Given the description of an element on the screen output the (x, y) to click on. 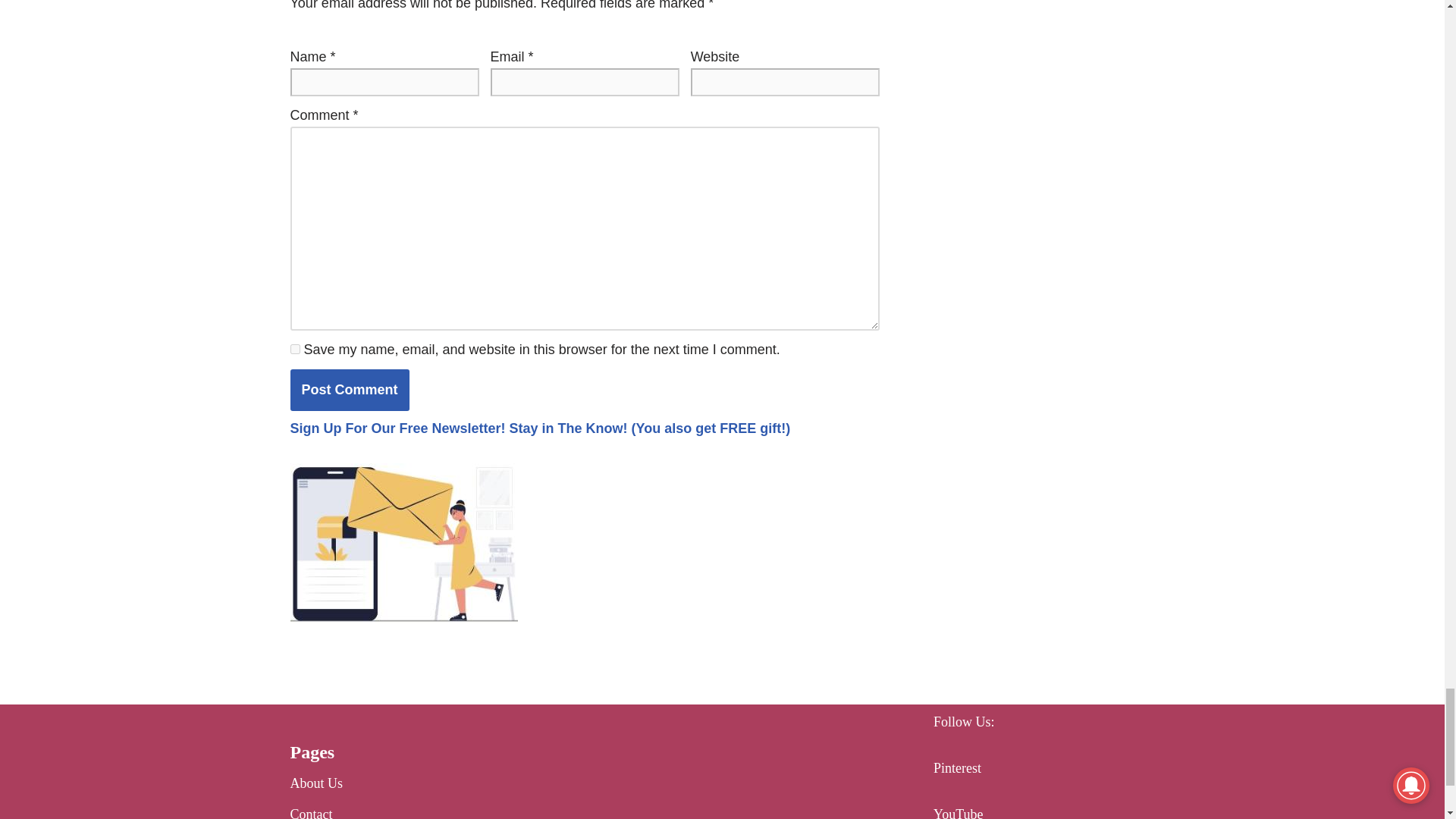
yes (294, 348)
Post Comment (349, 390)
